Given the description of an element on the screen output the (x, y) to click on. 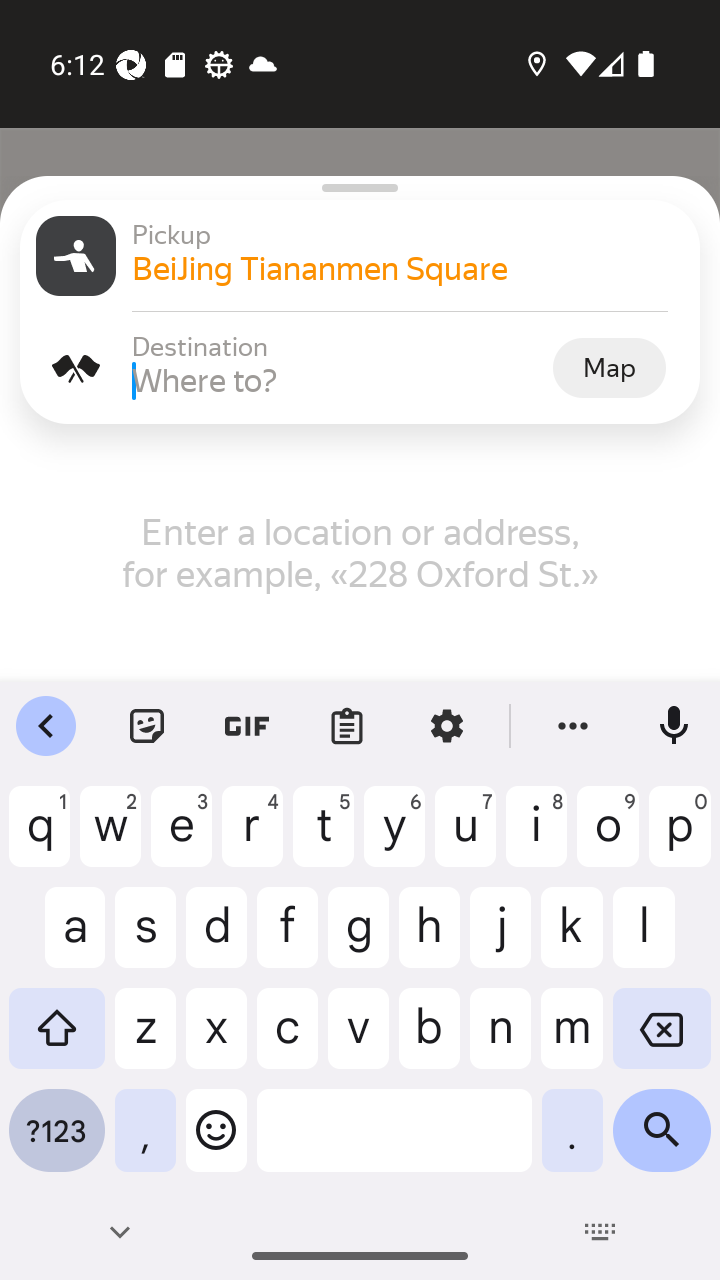
Pickup Pickup BeiJing Tiananmen Square (359, 255)
BeiJing Tiananmen Square (407, 268)
Destination Destination Where to? Map (359, 367)
Map (609, 367)
Where to? (340, 380)
